Given the description of an element on the screen output the (x, y) to click on. 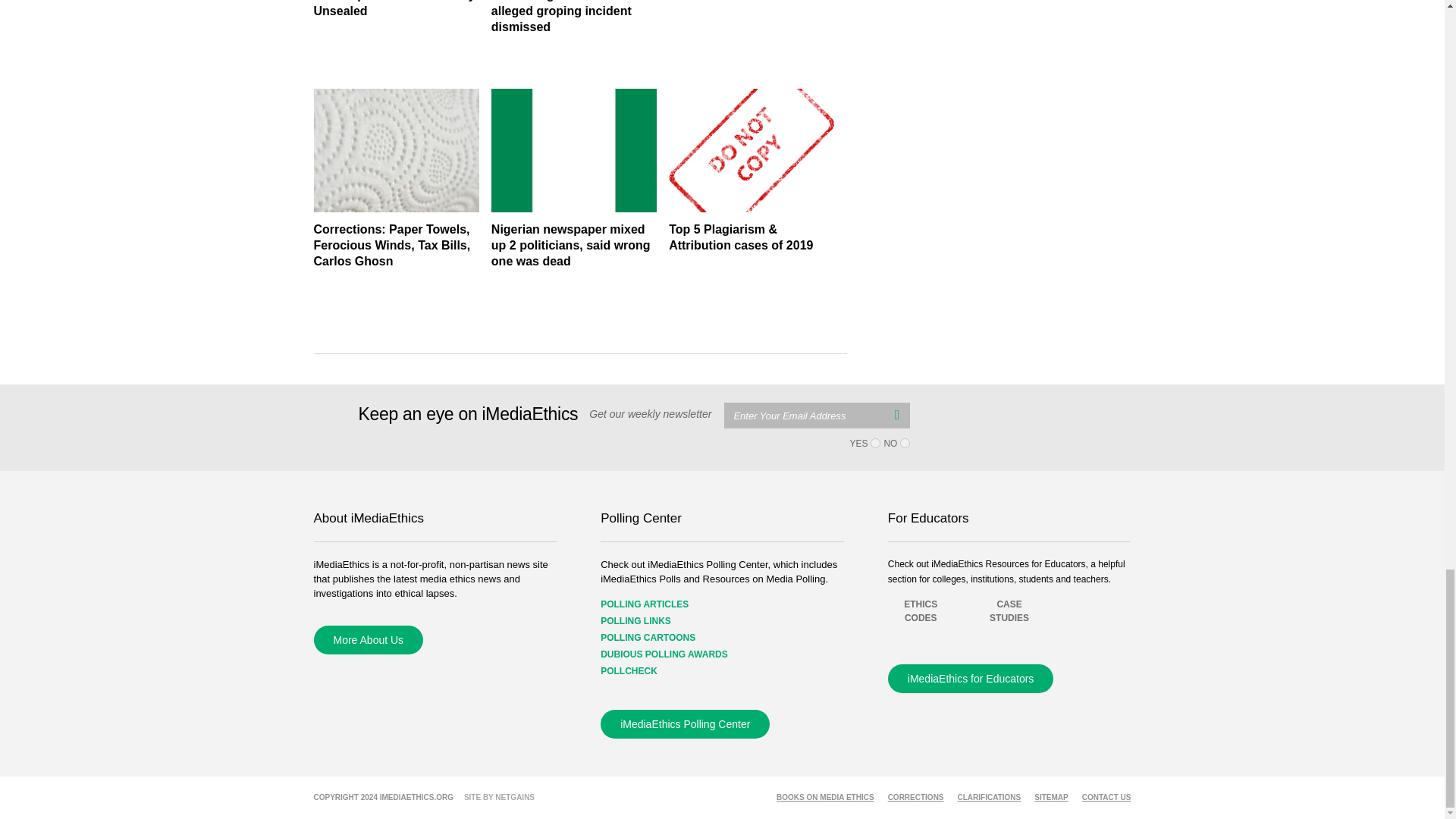
No (904, 442)
Submit (896, 414)
Yes (875, 442)
